Given the description of an element on the screen output the (x, y) to click on. 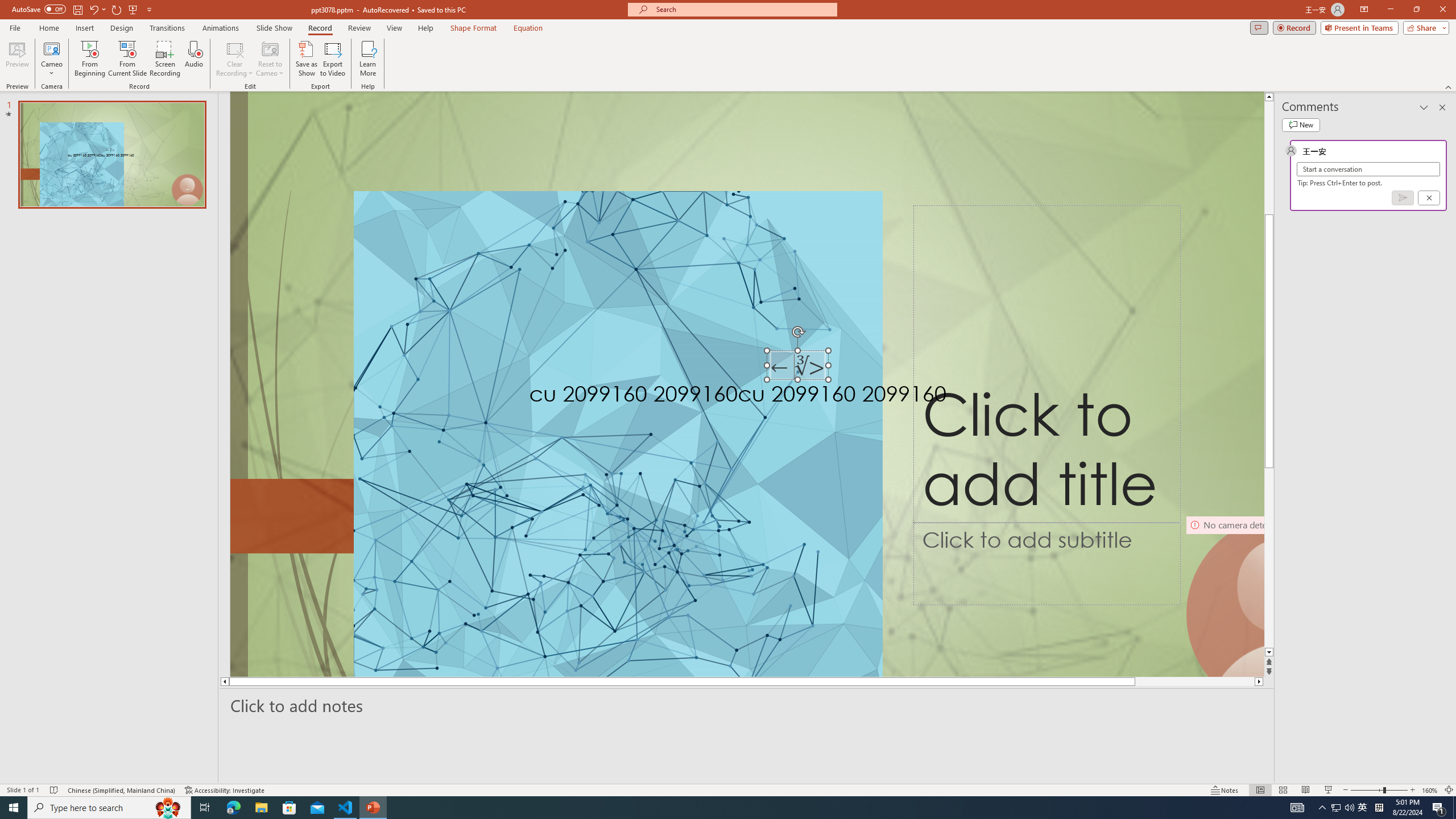
Post comment (Ctrl + Enter) (1402, 197)
From Beginning... (89, 58)
